Given the description of an element on the screen output the (x, y) to click on. 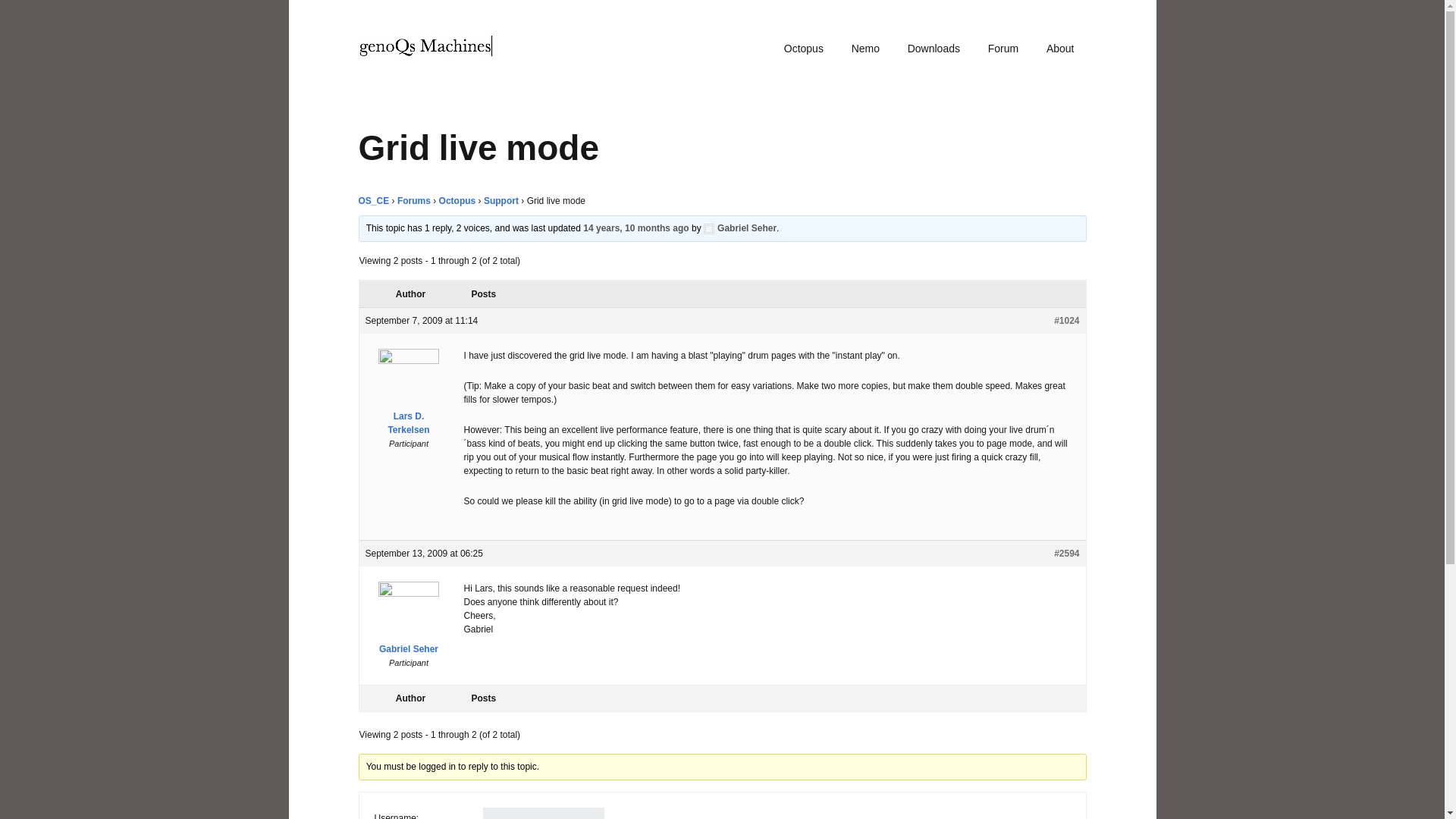
Octopus (803, 49)
View Gabriel Seher's profile (739, 227)
Lars D. Terkelsen (408, 395)
Nemo (865, 49)
Gabriel Seher (408, 622)
Forum (1002, 49)
Forums (413, 200)
View Lars D. Terkelsen's profile (408, 395)
Octopus (457, 200)
Gabriel Seher (739, 227)
Downloads (933, 49)
Re: Re:Grid live mode (635, 227)
About (1059, 49)
14 years, 10 months ago (635, 227)
View Gabriel Seher's profile (408, 622)
